Given the description of an element on the screen output the (x, y) to click on. 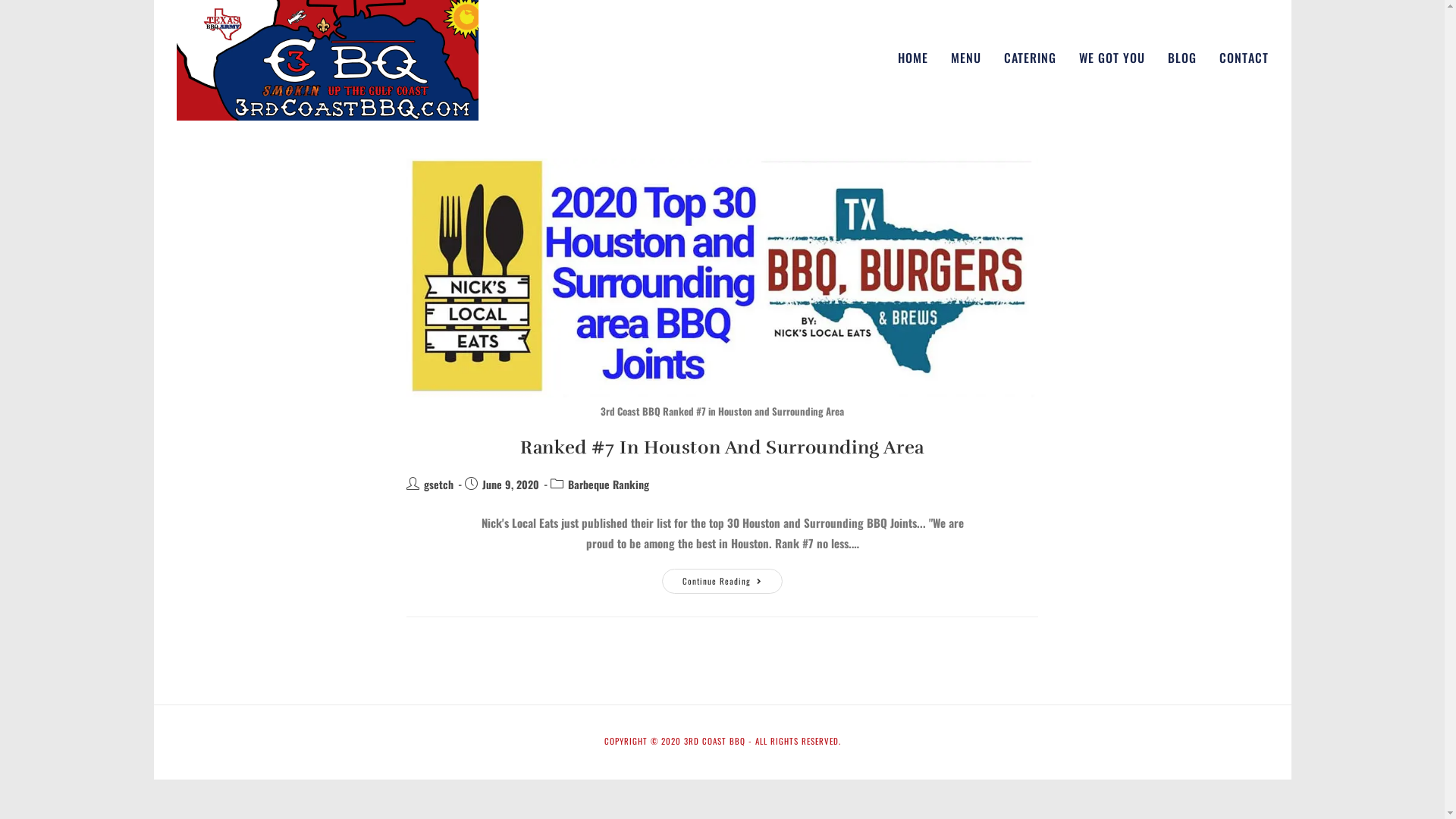
HOME Element type: text (911, 58)
Continue Reading
Ranked #7 In Houston And Surrounding Area Element type: text (722, 580)
BLOG Element type: text (1181, 58)
WE GOT YOU Element type: text (1111, 58)
gsetch Element type: text (438, 484)
Barbeque Ranking Element type: text (608, 484)
MENU Element type: text (964, 58)
CONTACT Element type: text (1243, 58)
CATERING Element type: text (1028, 58)
Ranked #7 In Houston And Surrounding Area Element type: text (722, 447)
